Given the description of an element on the screen output the (x, y) to click on. 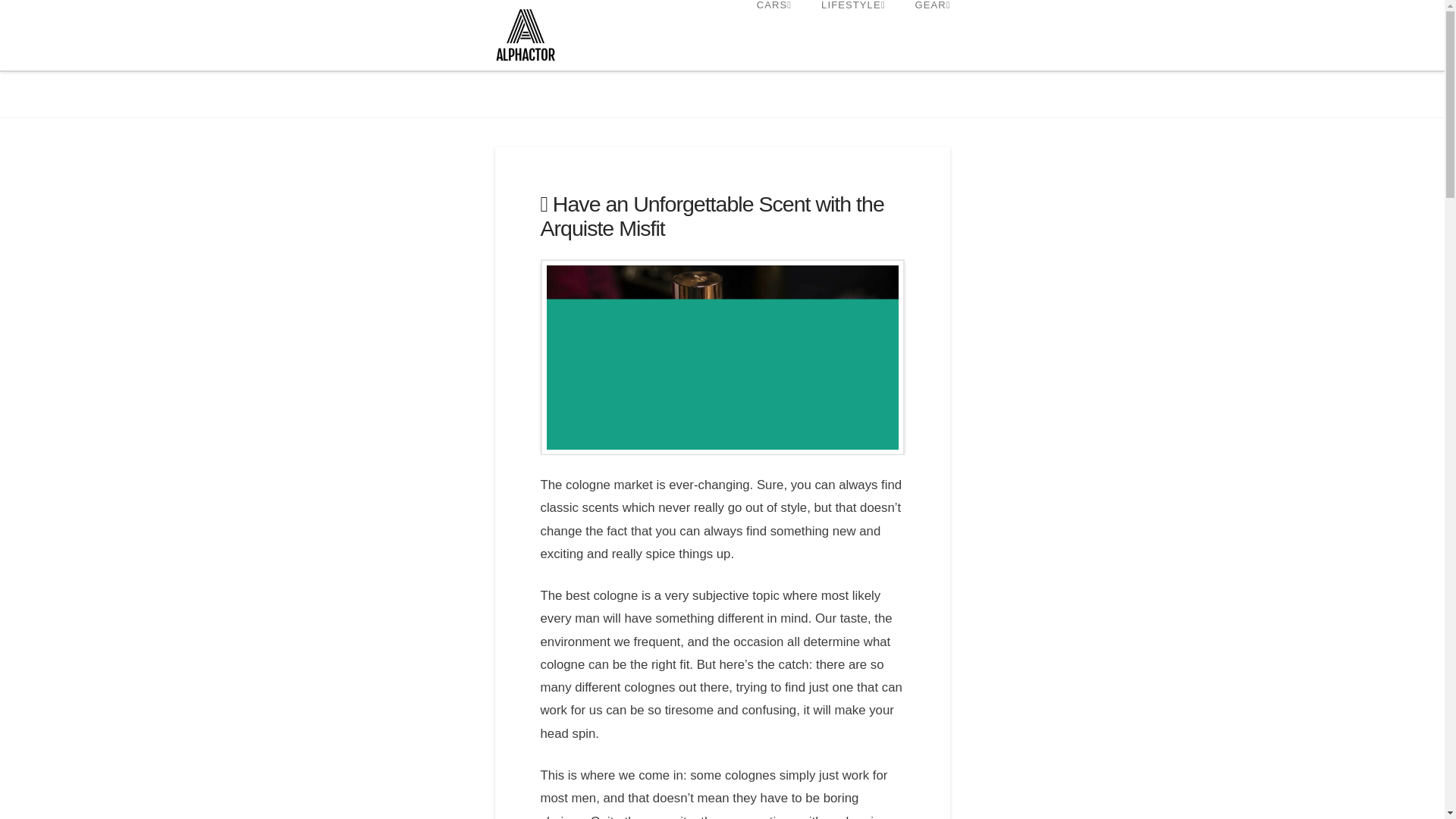
CARS (773, 22)
GEAR (924, 22)
LIFESTYLE (852, 22)
